Given the description of an element on the screen output the (x, y) to click on. 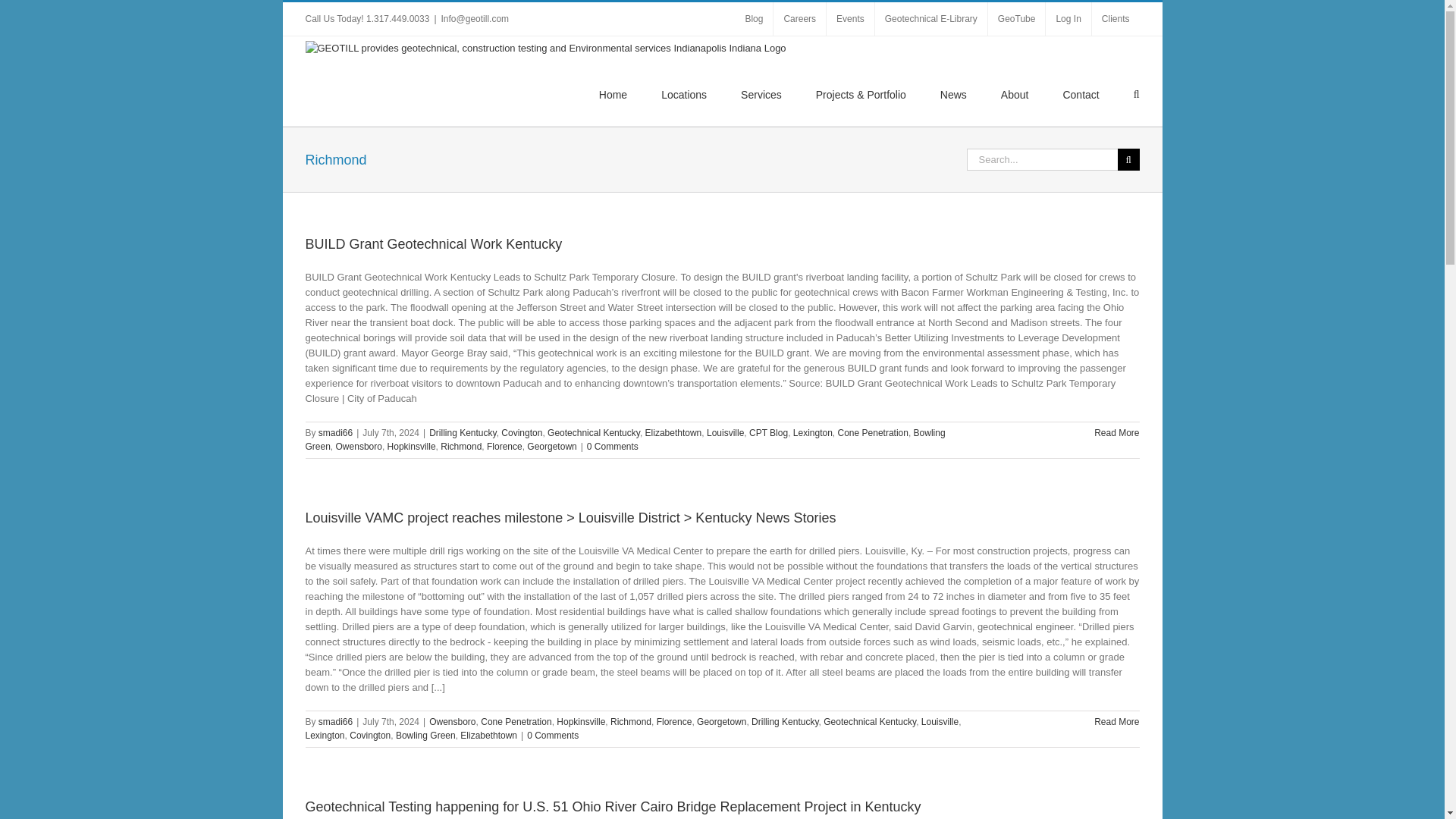
GeoTube (1016, 19)
Log In (1067, 19)
Events (851, 19)
Posts by smadi66 (335, 721)
Clients (1116, 19)
Geotechnical E-Library (931, 19)
Posts by smadi66 (335, 432)
Careers (799, 19)
Blog (754, 19)
